Given the description of an element on the screen output the (x, y) to click on. 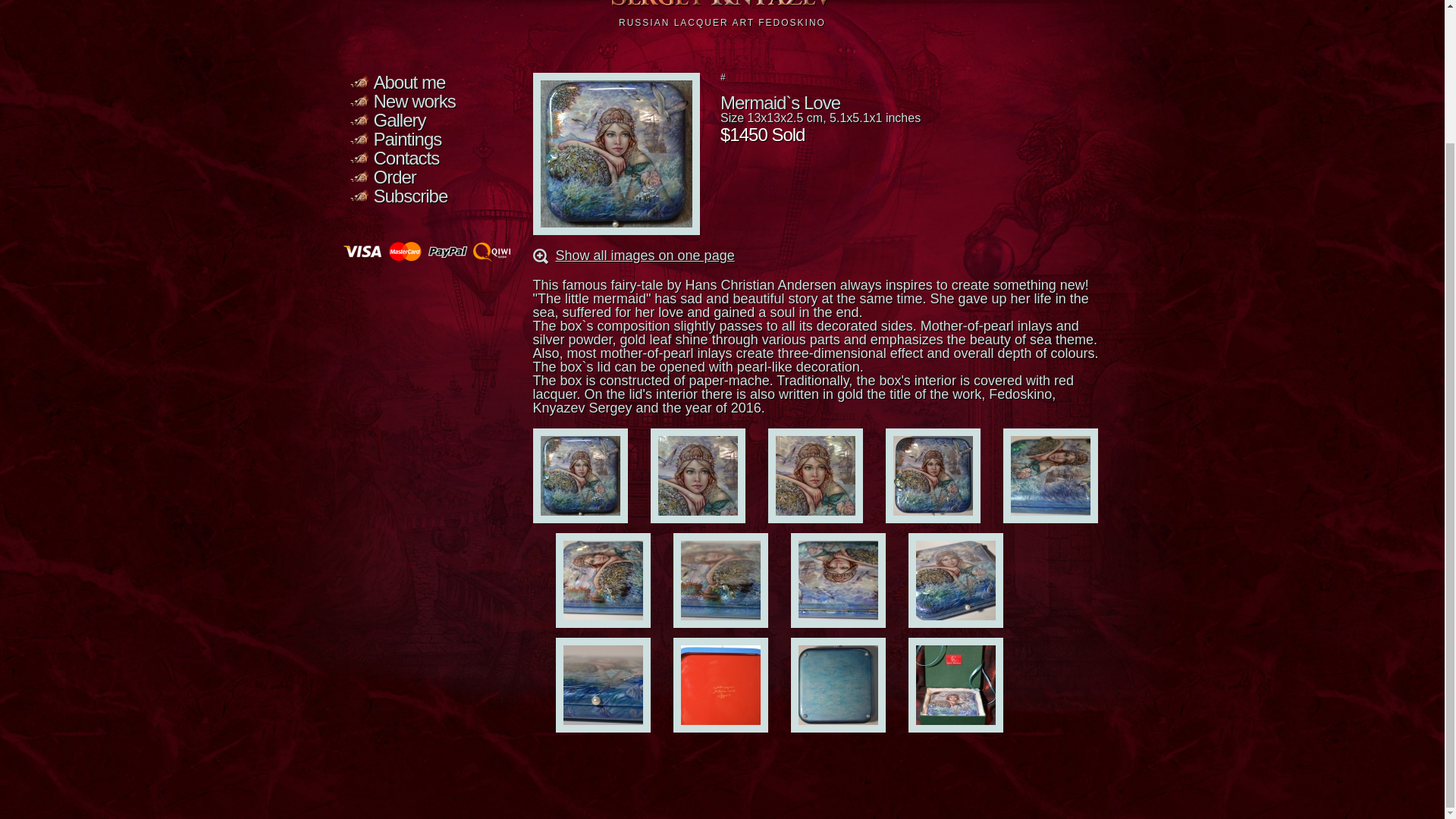
Show all images on one page (643, 255)
Paintings (406, 138)
Gallery (398, 119)
Order (393, 177)
New works (413, 100)
Contacts (405, 158)
About me (408, 82)
Subscribe (409, 195)
